Given the description of an element on the screen output the (x, y) to click on. 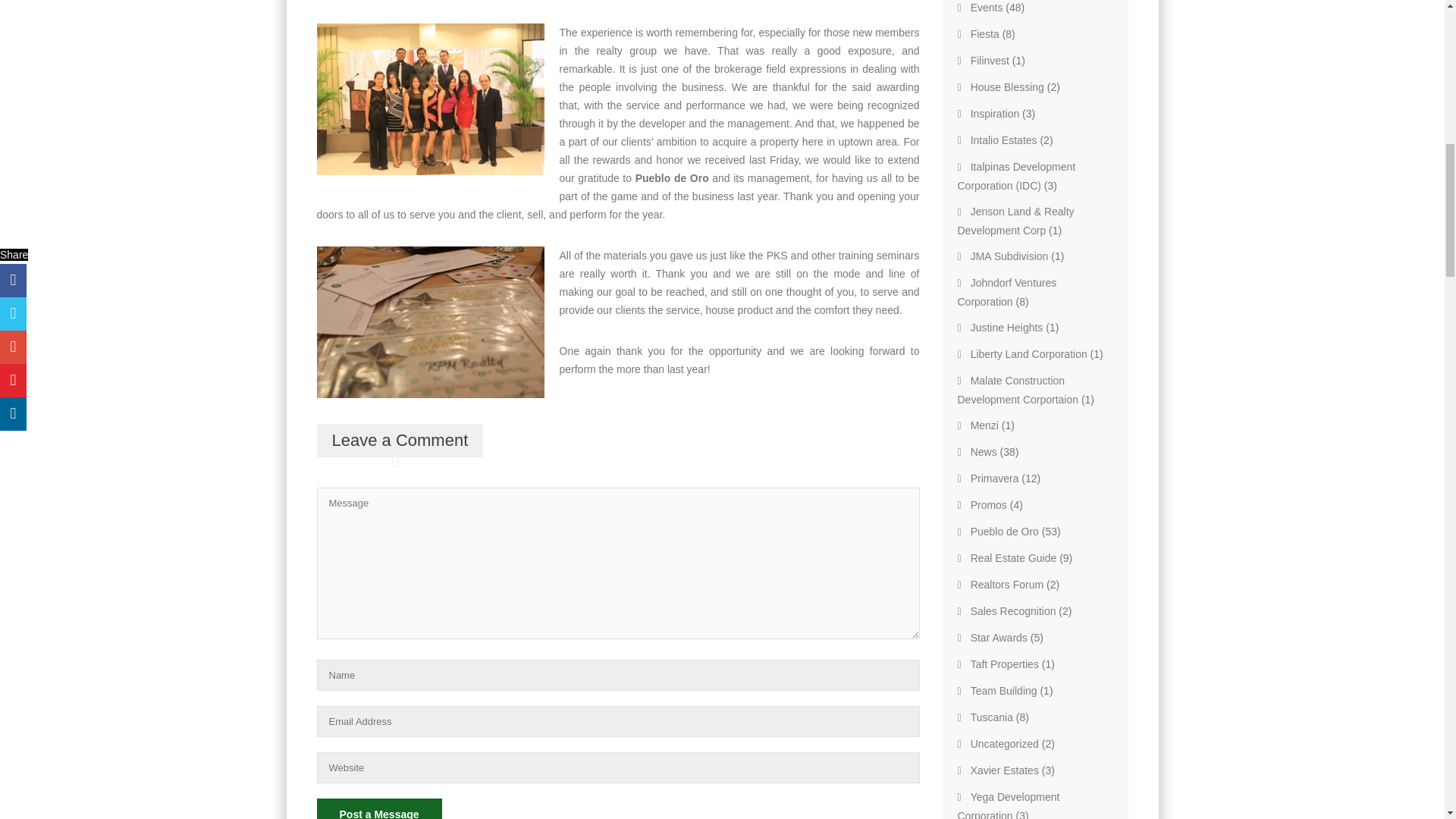
Post a Message (379, 808)
Post a Message (379, 808)
